Given the description of an element on the screen output the (x, y) to click on. 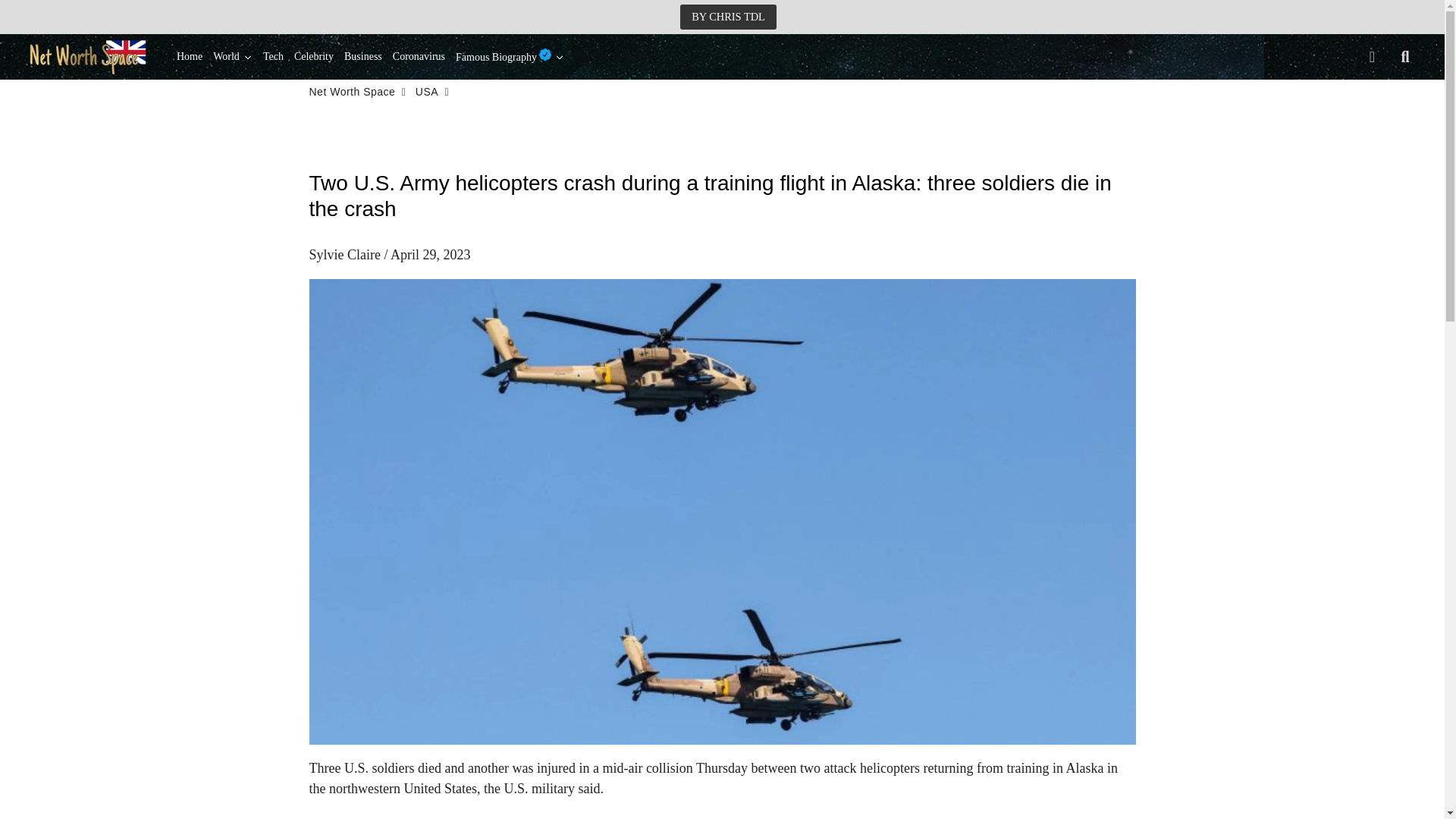
Search (1405, 56)
Celebrity (313, 56)
Celebrity (313, 56)
Coronavirus (418, 56)
Tech (272, 56)
Coronavirus (418, 56)
Home (189, 56)
Business (363, 56)
Home (189, 56)
Tech (272, 56)
